Given the description of an element on the screen output the (x, y) to click on. 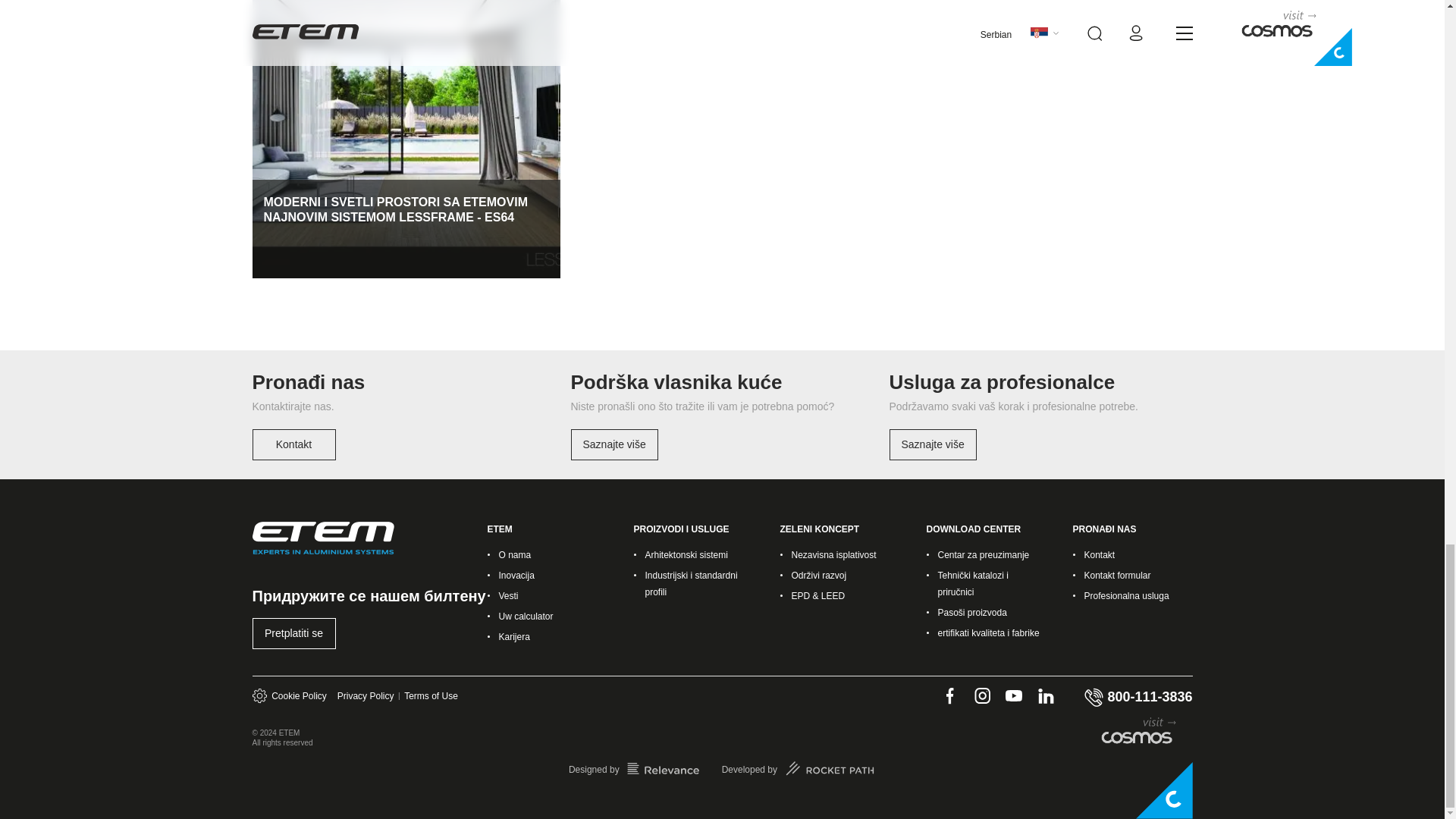
Pretplatiti se (293, 633)
Kontakt (293, 444)
